Given the description of an element on the screen output the (x, y) to click on. 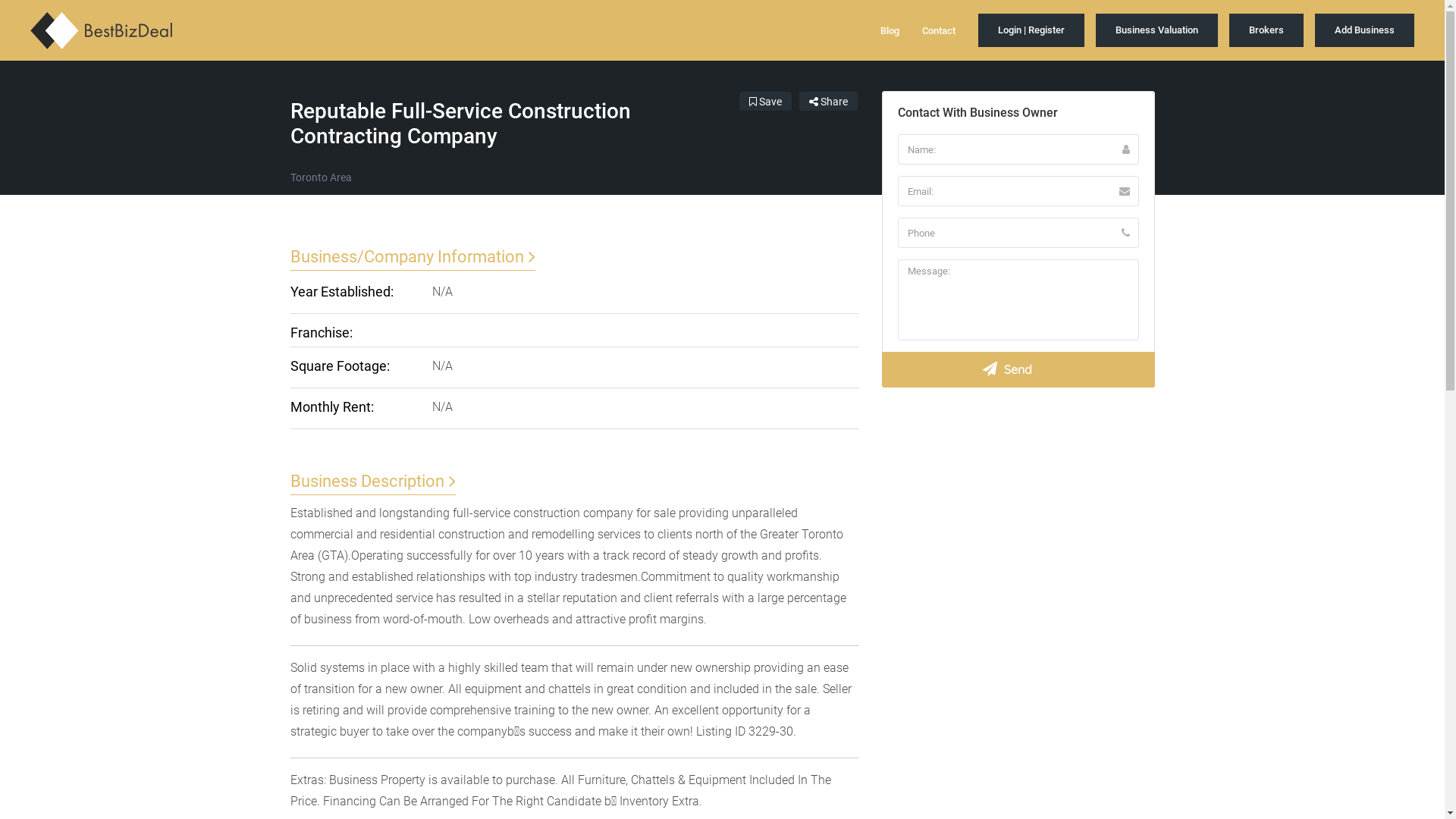
Brokers Element type: text (1266, 30)
Business Valuation Element type: text (1156, 30)
Submit Element type: text (413, 502)
Login | Register Element type: text (1031, 30)
Add Business Element type: text (1364, 30)
Contact Element type: text (938, 30)
Blog Element type: text (889, 30)
Save Element type: text (764, 100)
Send Element type: text (1017, 369)
Share Element type: text (828, 100)
